Given the description of an element on the screen output the (x, y) to click on. 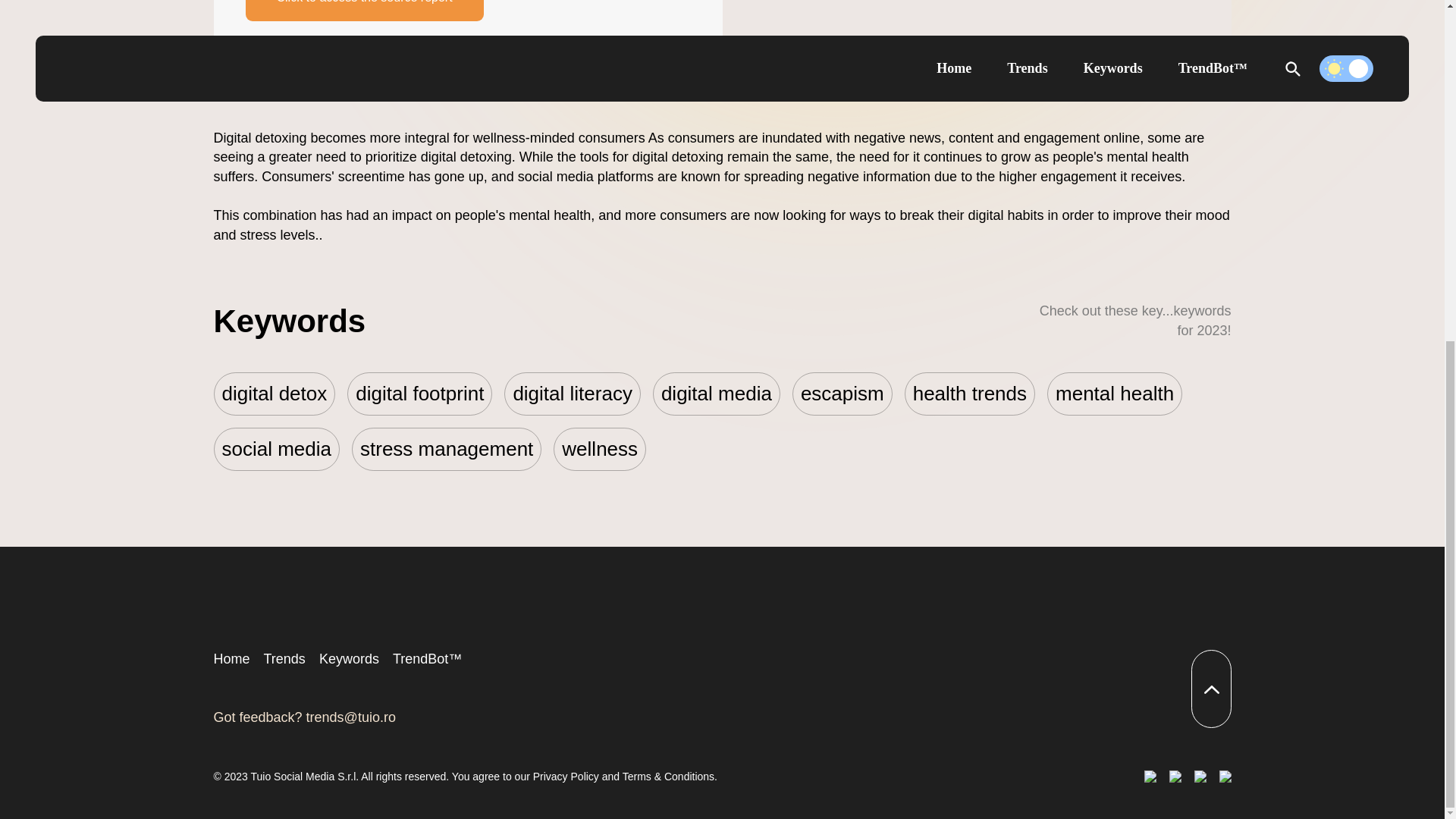
digital literacy (571, 393)
digital footprint (419, 393)
health trends (969, 393)
escapism (842, 393)
digital media (716, 393)
social media (277, 448)
Trends (284, 658)
stress management (446, 448)
digital detox (275, 393)
mental health (1114, 393)
